Given the description of an element on the screen output the (x, y) to click on. 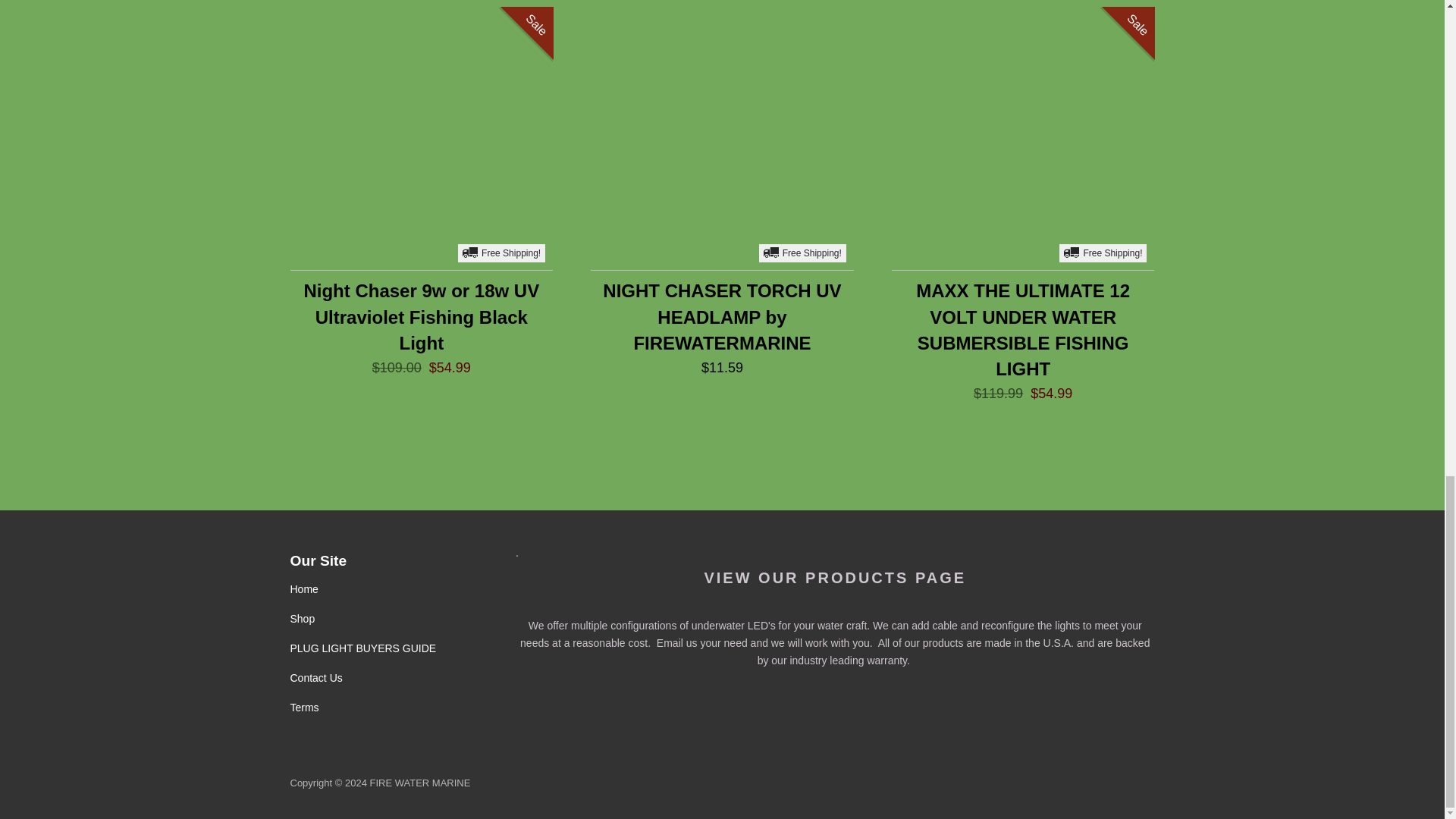
Contact Us (315, 677)
PLUG LIGHT BUYERS GUIDE (362, 648)
Terms (303, 707)
Shop (301, 618)
Home (303, 589)
